Given the description of an element on the screen output the (x, y) to click on. 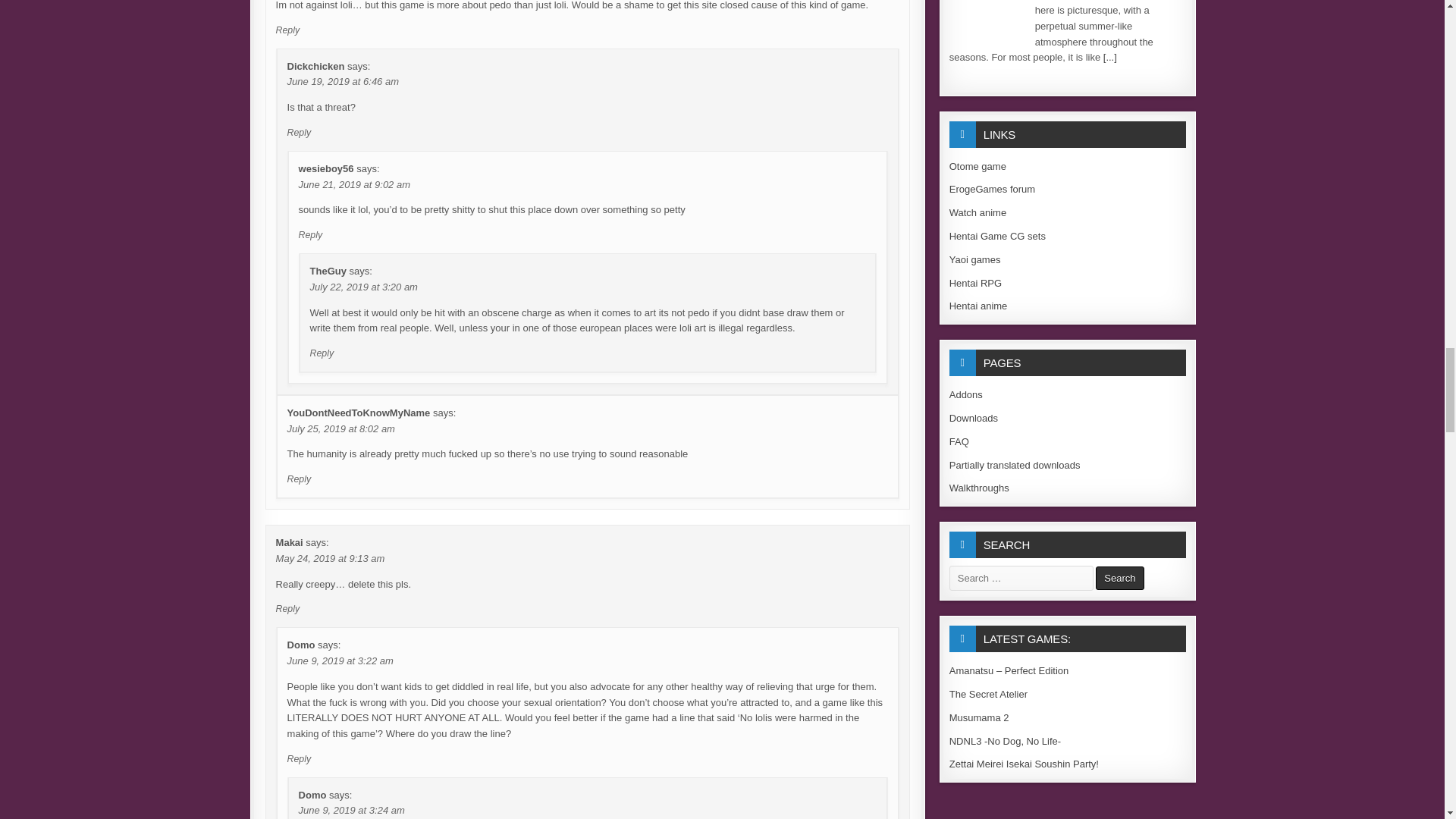
Search (1119, 577)
Search (1119, 577)
